Given the description of an element on the screen output the (x, y) to click on. 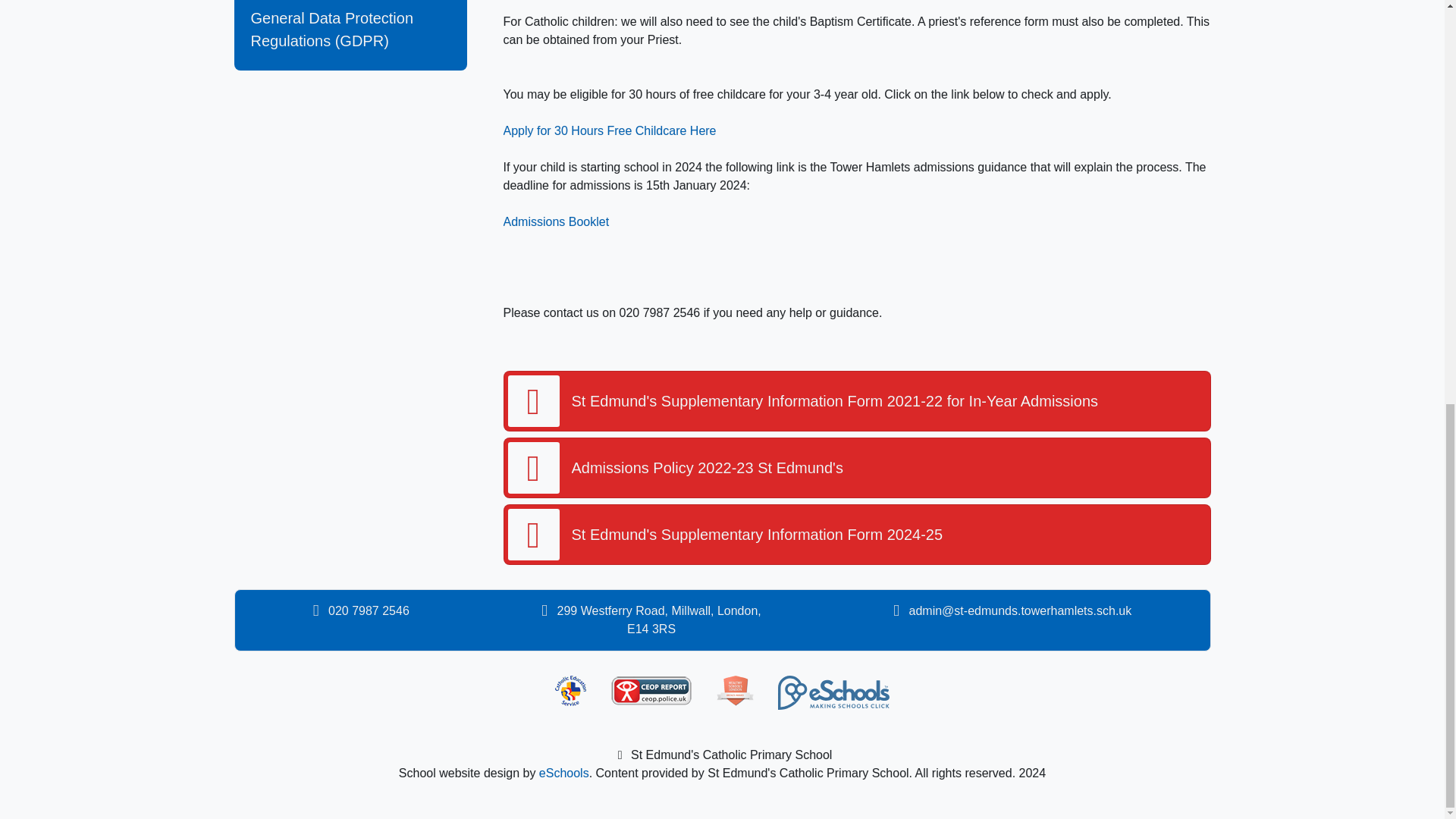
Healthy Schools London Bronze Award (735, 690)
CEOP Report (651, 690)
Catholic Education Service (570, 690)
